Given the description of an element on the screen output the (x, y) to click on. 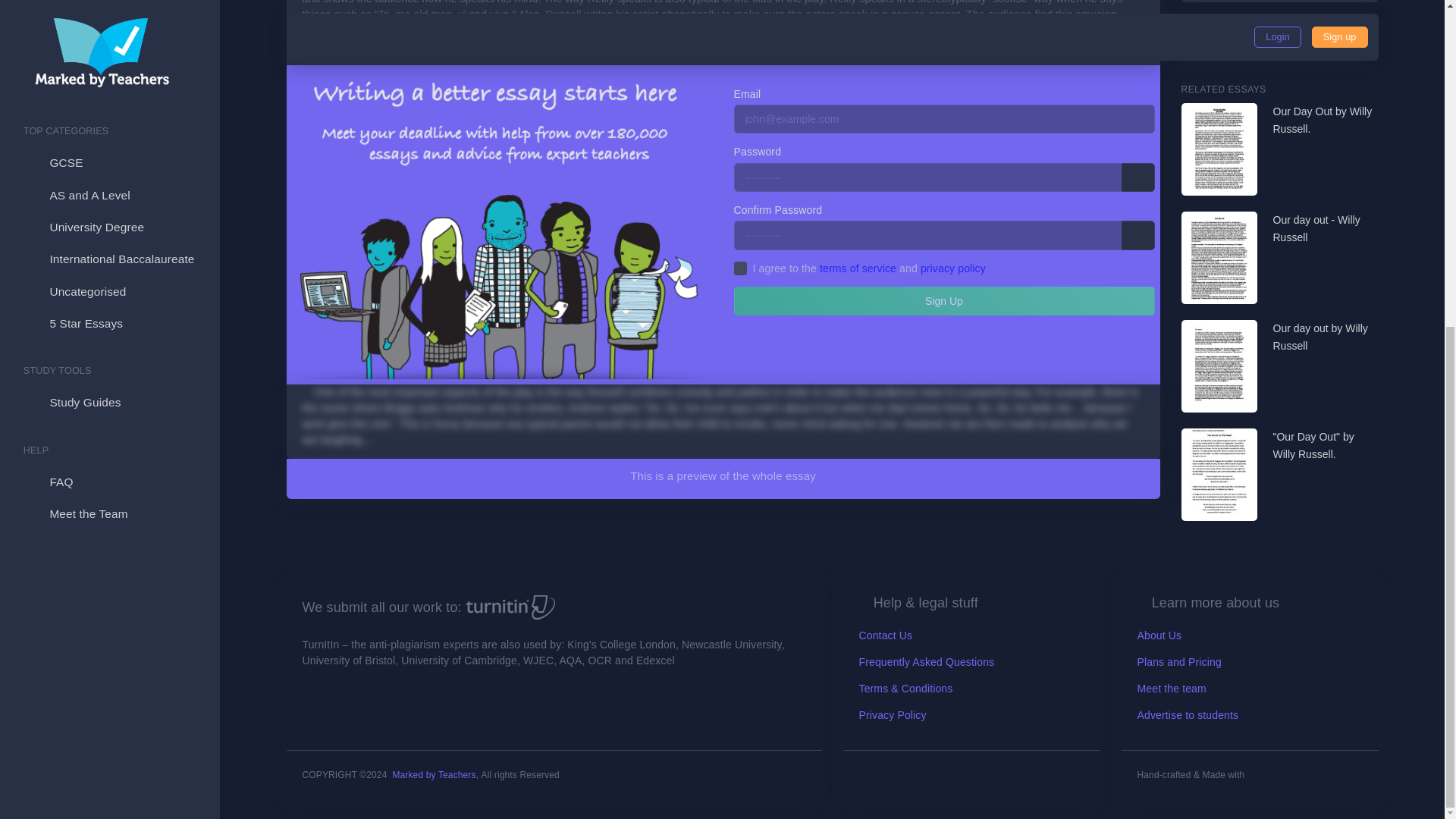
Marked by Teachers (433, 774)
Our day out - Willy Russell (1324, 228)
Our Day Out by Willy Russell. (1324, 120)
Contact Us (885, 635)
terms of service (857, 268)
on (740, 268)
Quick search (1361, 37)
privacy policy (952, 268)
Frequently Asked Questions (926, 662)
Our day out by Willy Russell (1324, 337)
Sign Up (943, 300)
Our Day Out by Willy Russell. (1324, 120)
"Our Day Out" by Willy Russell. (1324, 445)
